Given the description of an element on the screen output the (x, y) to click on. 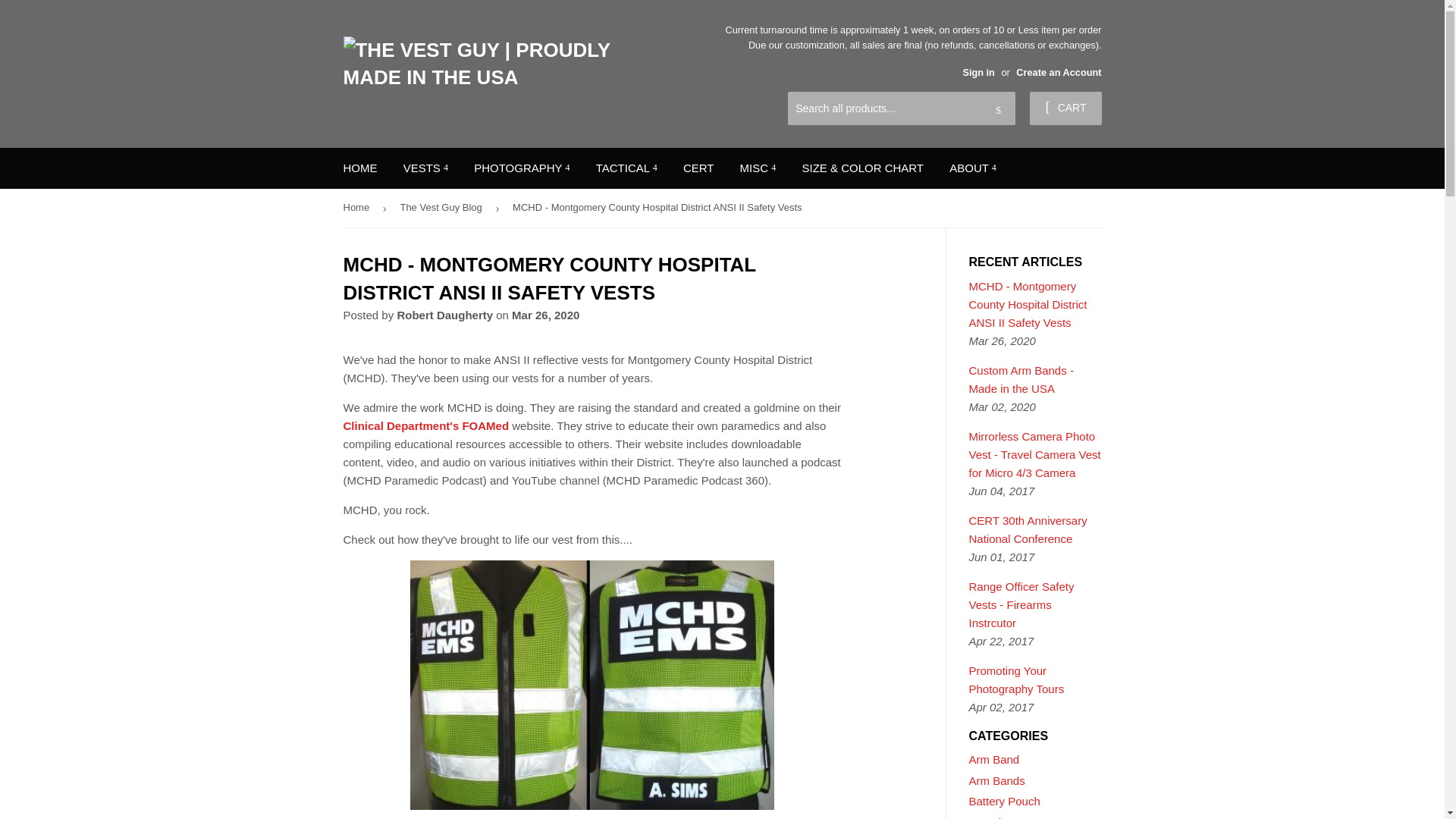
Show articles tagged Bean bag (993, 817)
Sign in (978, 71)
Create an Account (1058, 71)
Show articles tagged Arm Band (994, 758)
Show articles tagged Arm Bands (997, 780)
CART (1064, 108)
Show articles tagged Battery Pouch (1005, 800)
Search (997, 109)
